Given the description of an element on the screen output the (x, y) to click on. 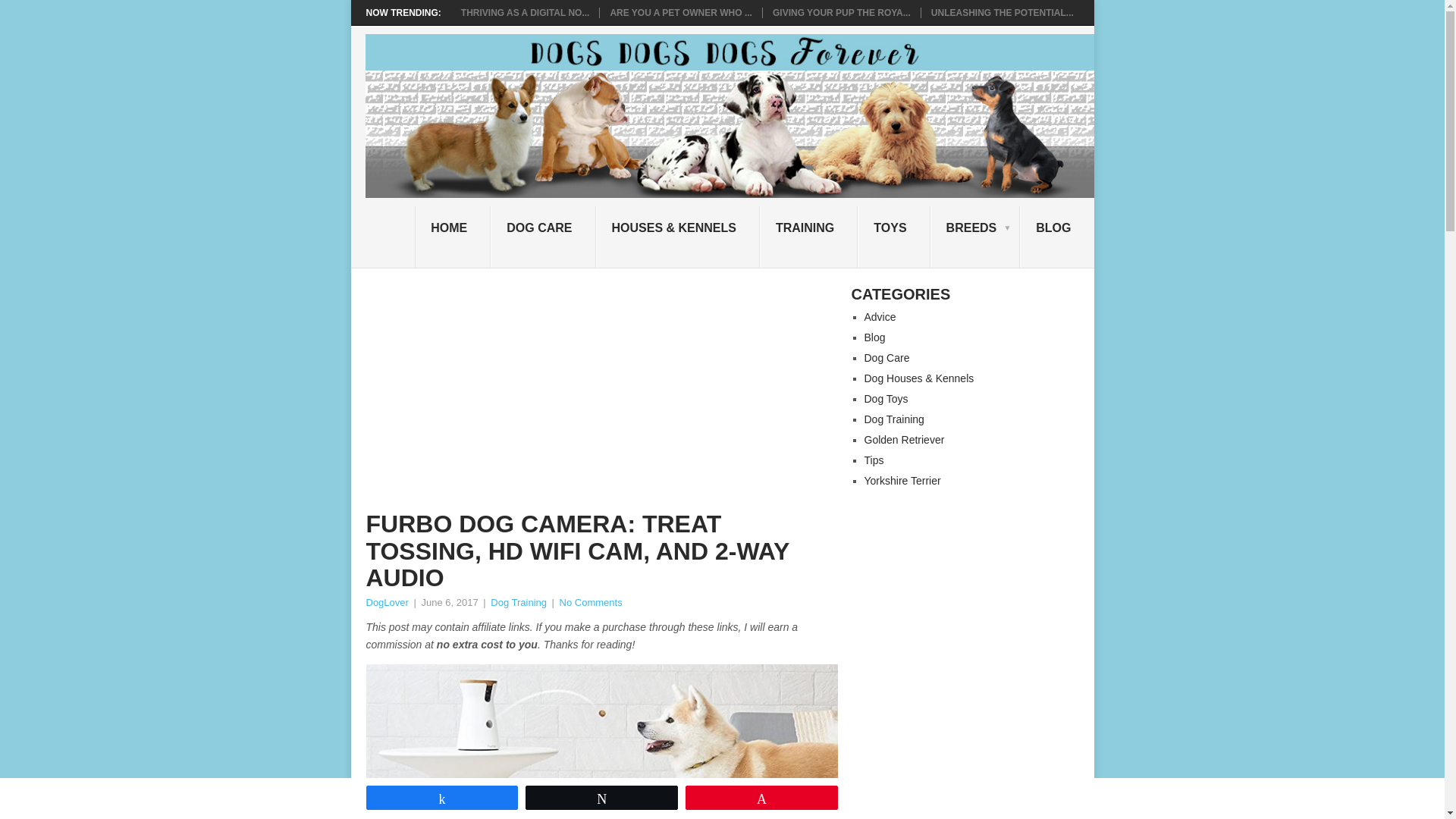
TRAINING (808, 237)
GIVING YOUR PUP THE ROYA... (842, 12)
TOYS (893, 237)
HOME (452, 237)
No Comments (591, 602)
Dog Care (887, 357)
Advertisement (601, 398)
UNLEASHING THE POTENTIAL... (1002, 12)
Giving Your Pup the Royal Treatment in 2023 (842, 12)
DOG CARE (542, 237)
Unleashing the Potential of Your Pet Care Business in 2023 (1002, 12)
ARE YOU A PET OWNER WHO ... (681, 12)
Dog Toys (886, 398)
Dog Training (518, 602)
Thriving as a Digital Nomad with Your Pet (525, 12)
